Given the description of an element on the screen output the (x, y) to click on. 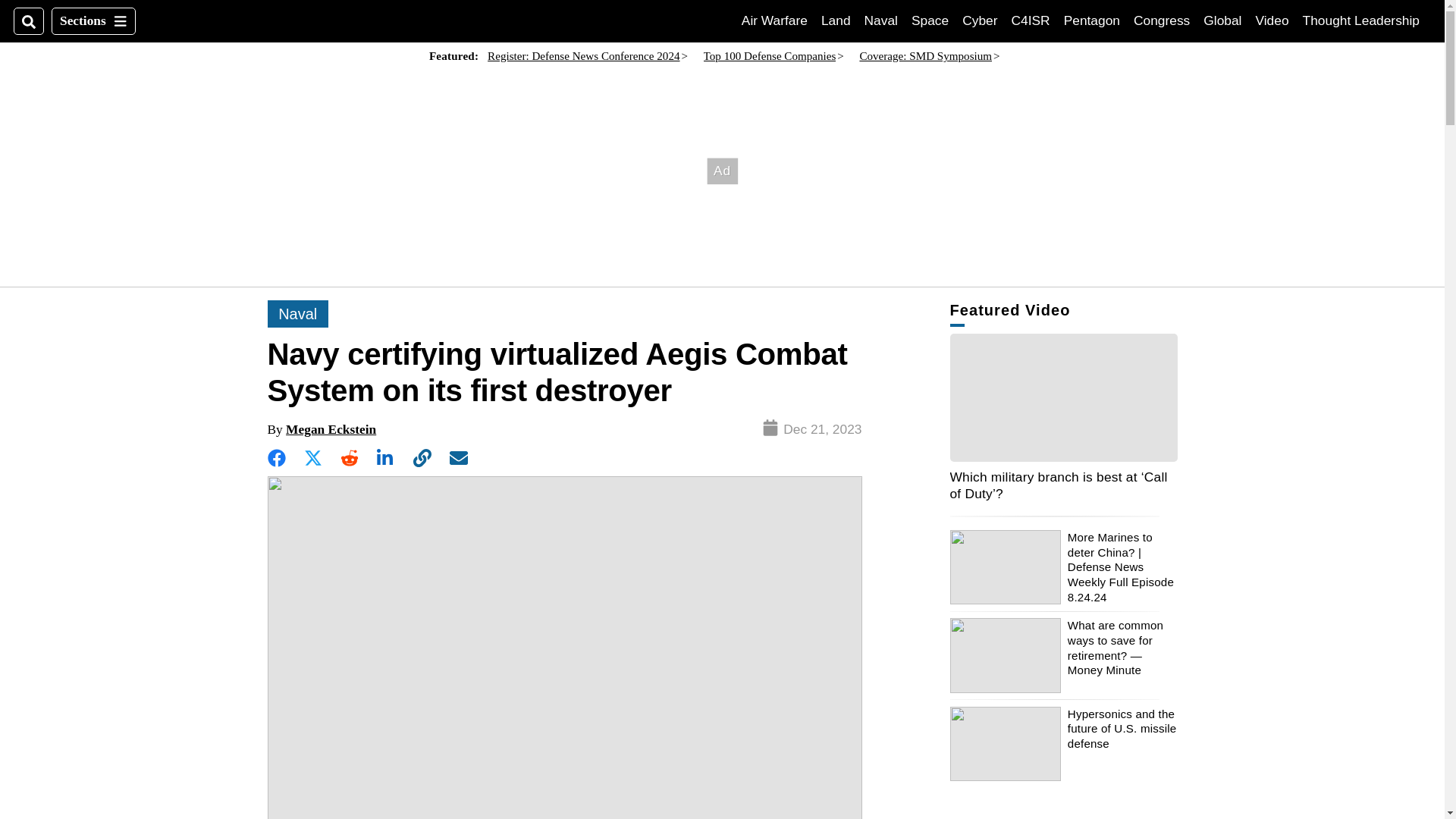
Thought Leadership (1361, 20)
Air Warfare (1030, 20)
Space (774, 20)
Naval (979, 20)
Global (930, 20)
Video (881, 20)
Land (1222, 20)
Sections (1271, 20)
